Given the description of an element on the screen output the (x, y) to click on. 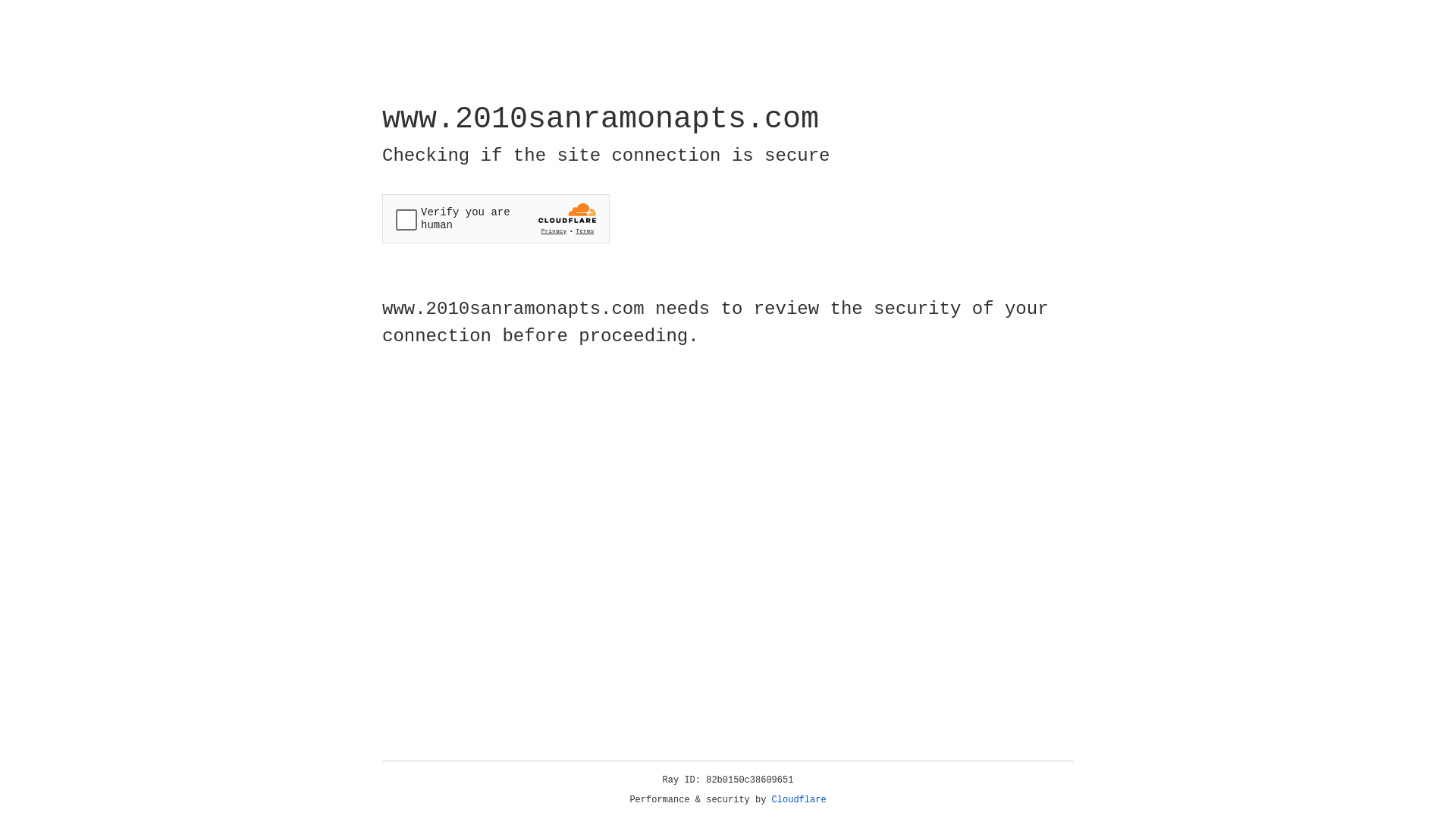
Cloudflare Element type: text (798, 799)
Widget containing a Cloudflare security challenge Element type: hover (495, 218)
